Given the description of an element on the screen output the (x, y) to click on. 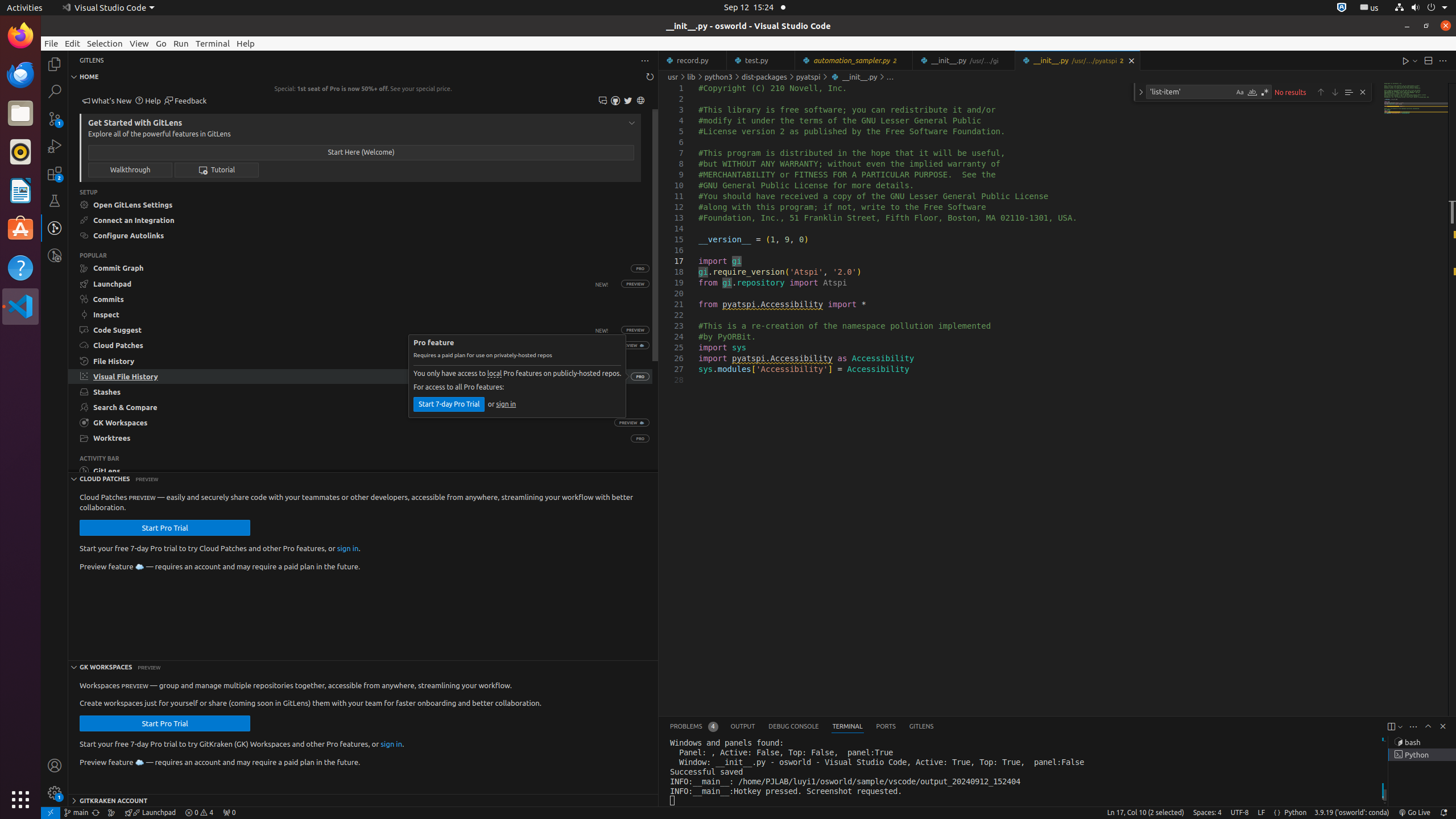
Next Match (Enter) Element type: push-button (1334, 91)
3.9.19 ('osworld': conda), ~/anaconda3/envs/osworld/bin/python Element type: push-button (1351, 812)
GK Workspaces Section Element type: push-button (363, 666)
Open Autolinks Settings Element type: link (359, 235)
